Given the description of an element on the screen output the (x, y) to click on. 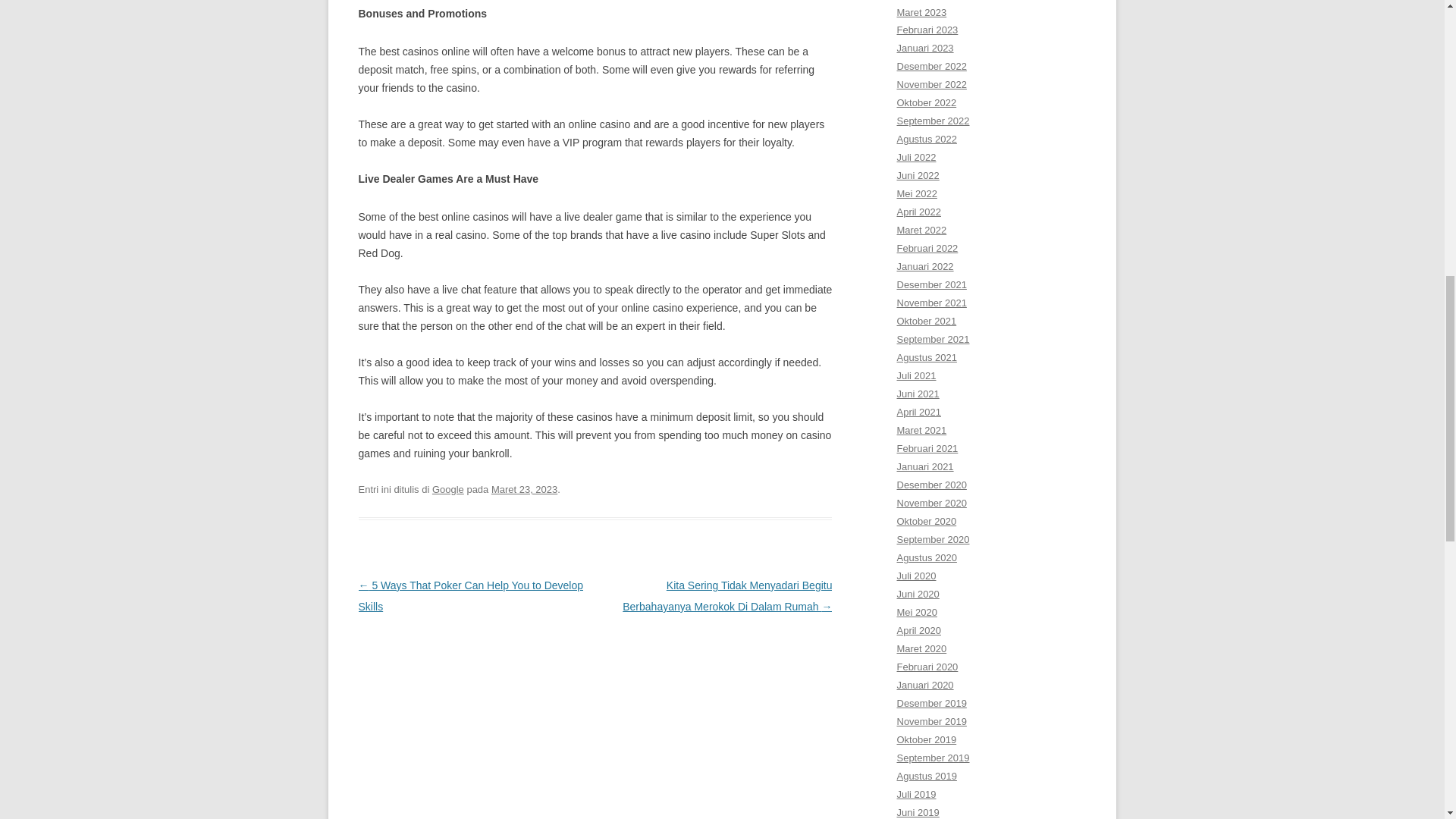
Maret 23, 2023 (524, 489)
Google (448, 489)
9:01 pm (524, 489)
